Given the description of an element on the screen output the (x, y) to click on. 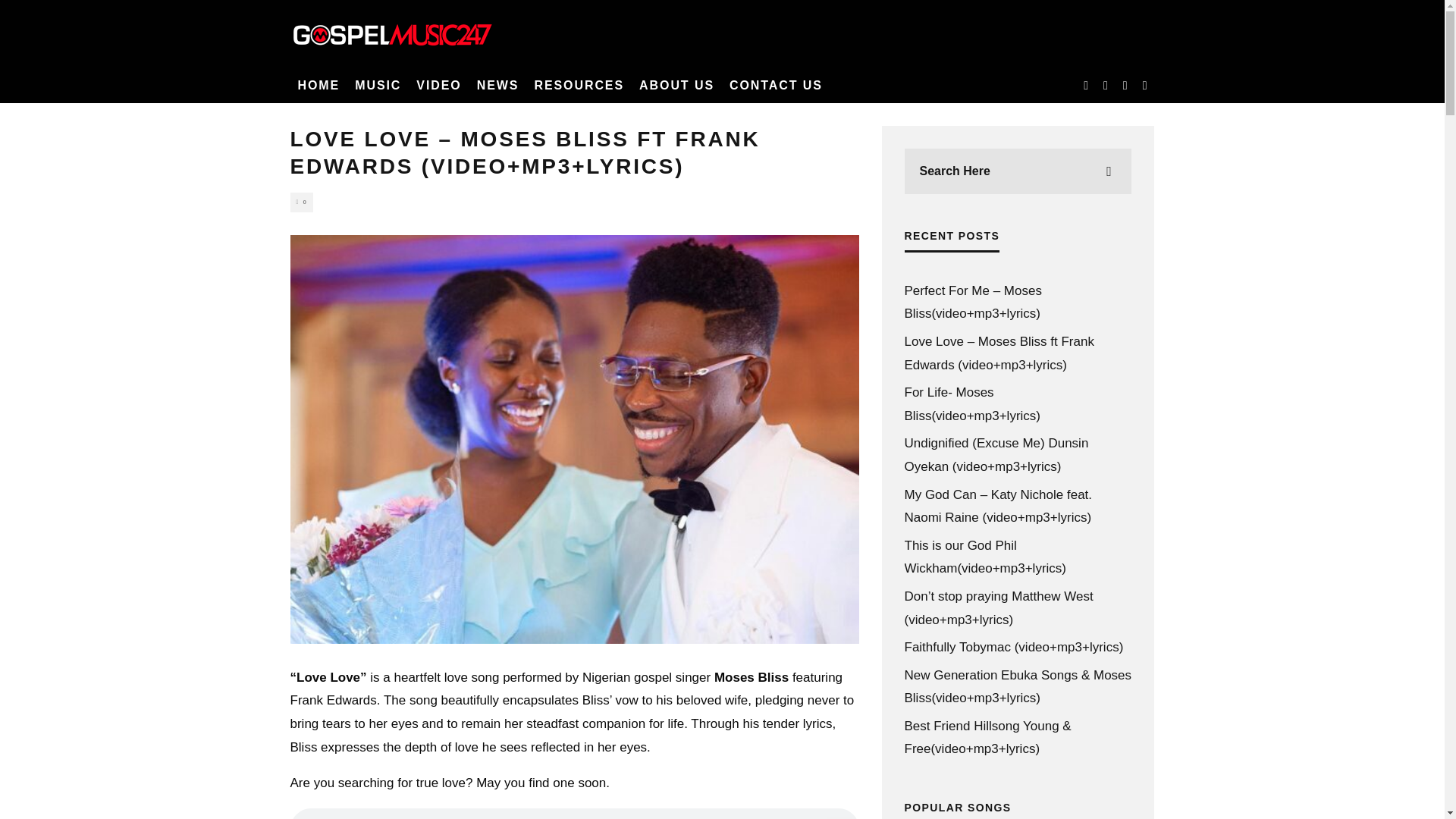
HOME (318, 85)
RESOURCES (578, 85)
CONTACT US (775, 85)
NEWS (497, 85)
VIDEO (438, 85)
0 (301, 202)
MUSIC (378, 85)
ABOUT US (676, 85)
